Given the description of an element on the screen output the (x, y) to click on. 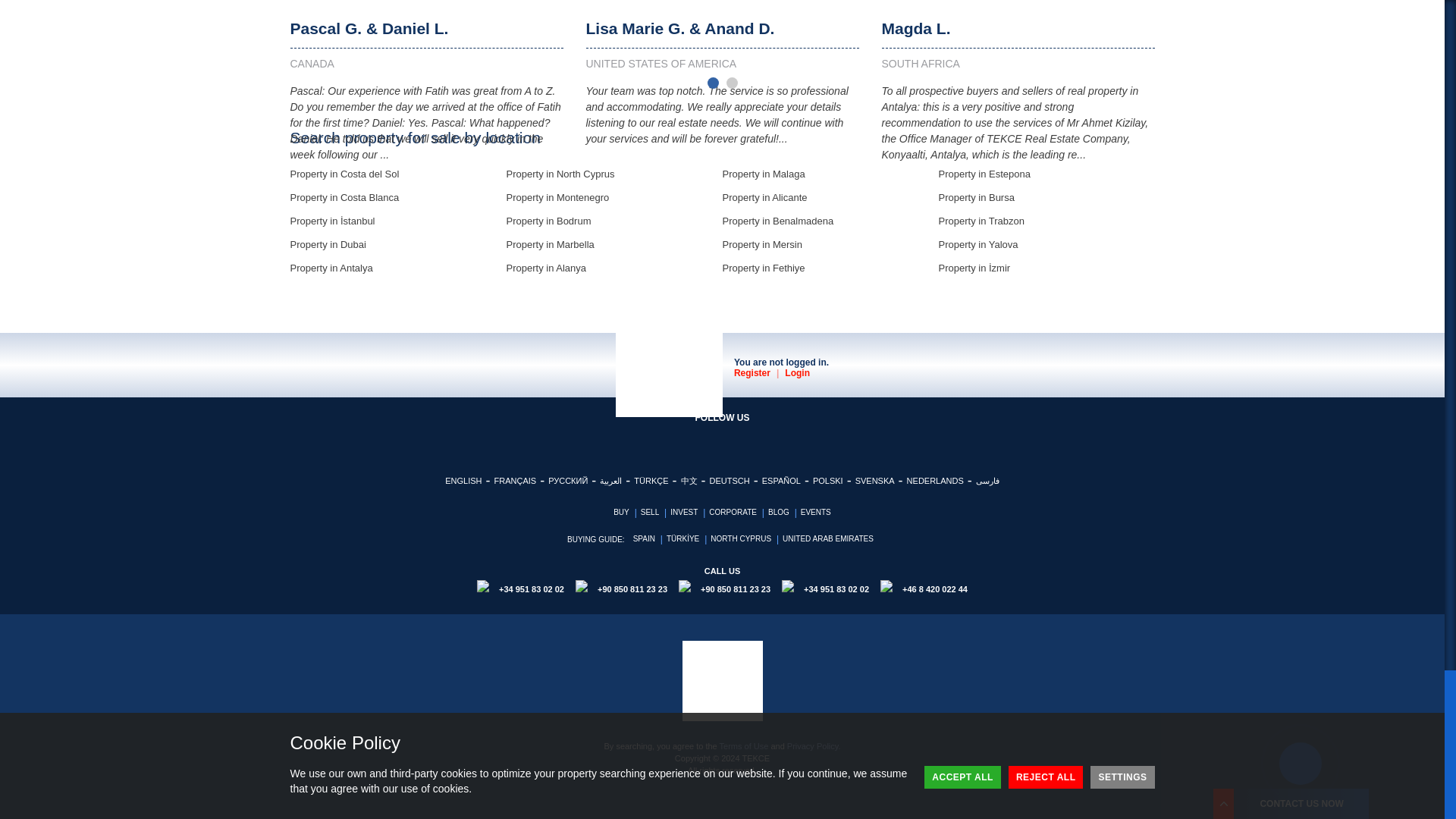
Telegram (769, 439)
Youtube (750, 439)
Linkedin (731, 439)
Facebook (674, 439)
Twitter (693, 439)
Instagram (712, 439)
